Given the description of an element on the screen output the (x, y) to click on. 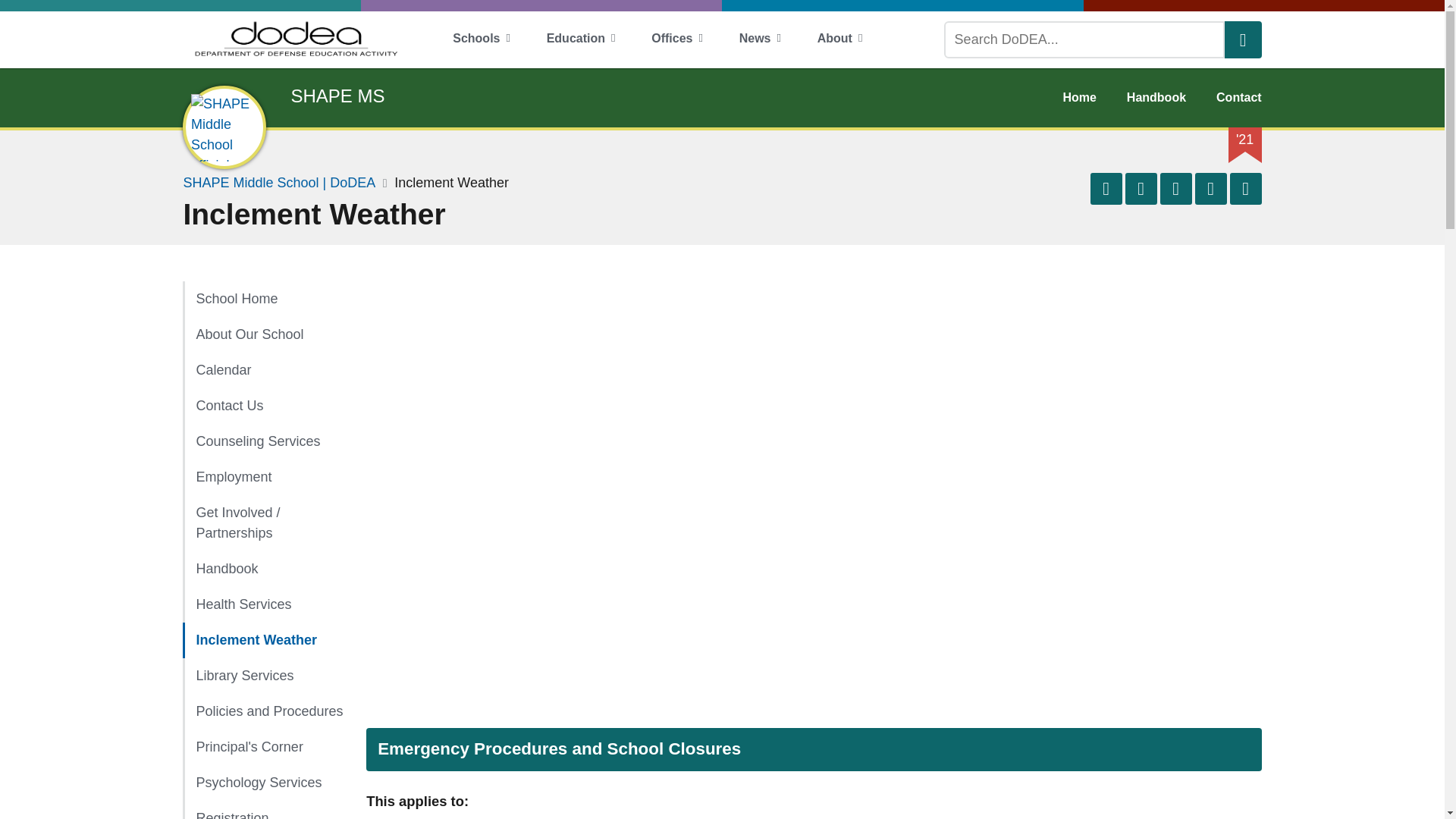
Schools (481, 39)
Home (263, 298)
Offices (676, 39)
Share this on Twitter (1141, 188)
Share this on LinkedIn (1176, 188)
SHAPE Middle School 2021 Cognia System of Distinction (1245, 139)
Inclement Weather (263, 640)
Education (580, 39)
Share this on Facebook (1106, 188)
